Given the description of an element on the screen output the (x, y) to click on. 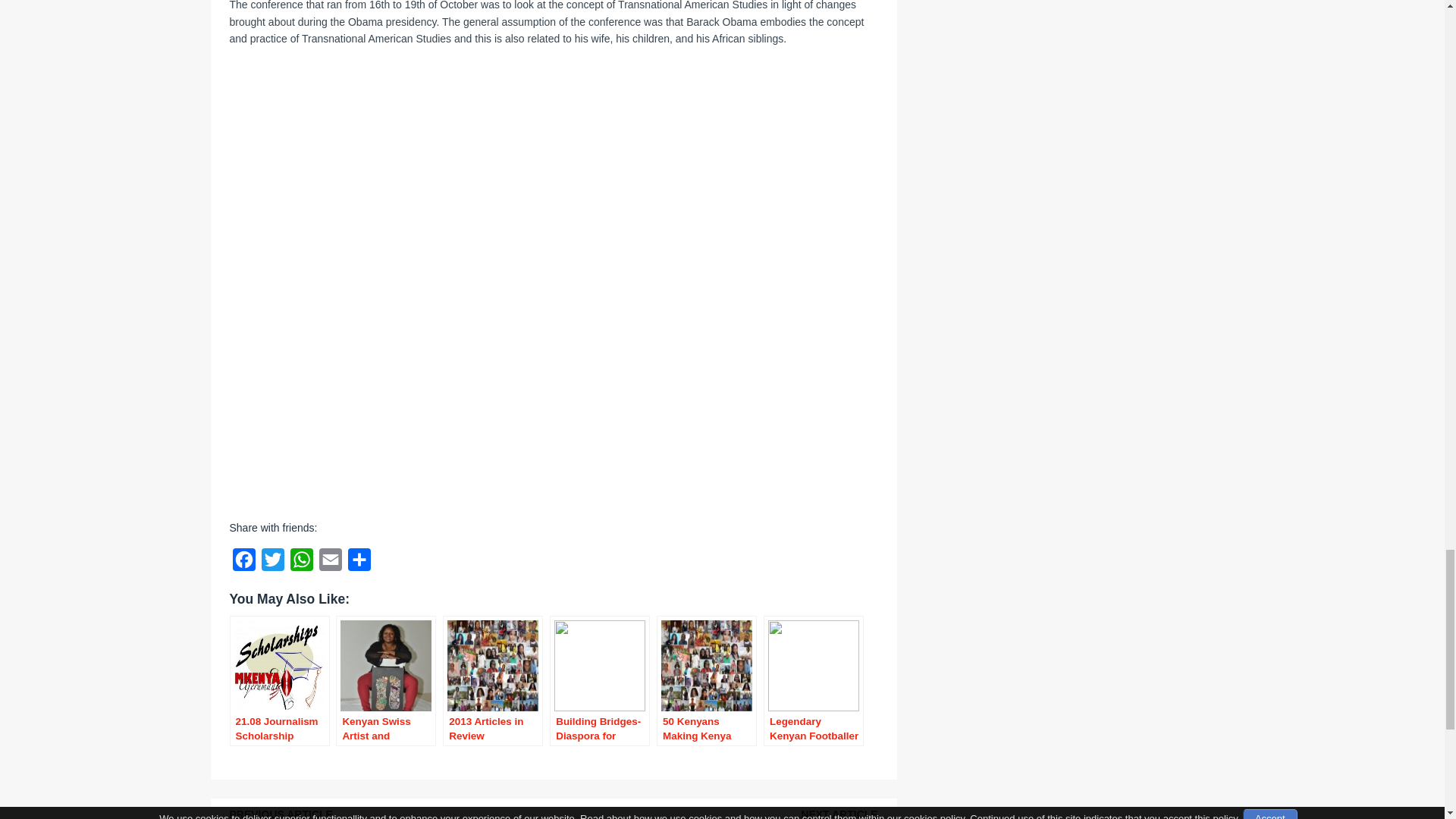
Email (329, 562)
Facebook (242, 562)
Twitter (271, 562)
WhatsApp (300, 562)
